Given the description of an element on the screen output the (x, y) to click on. 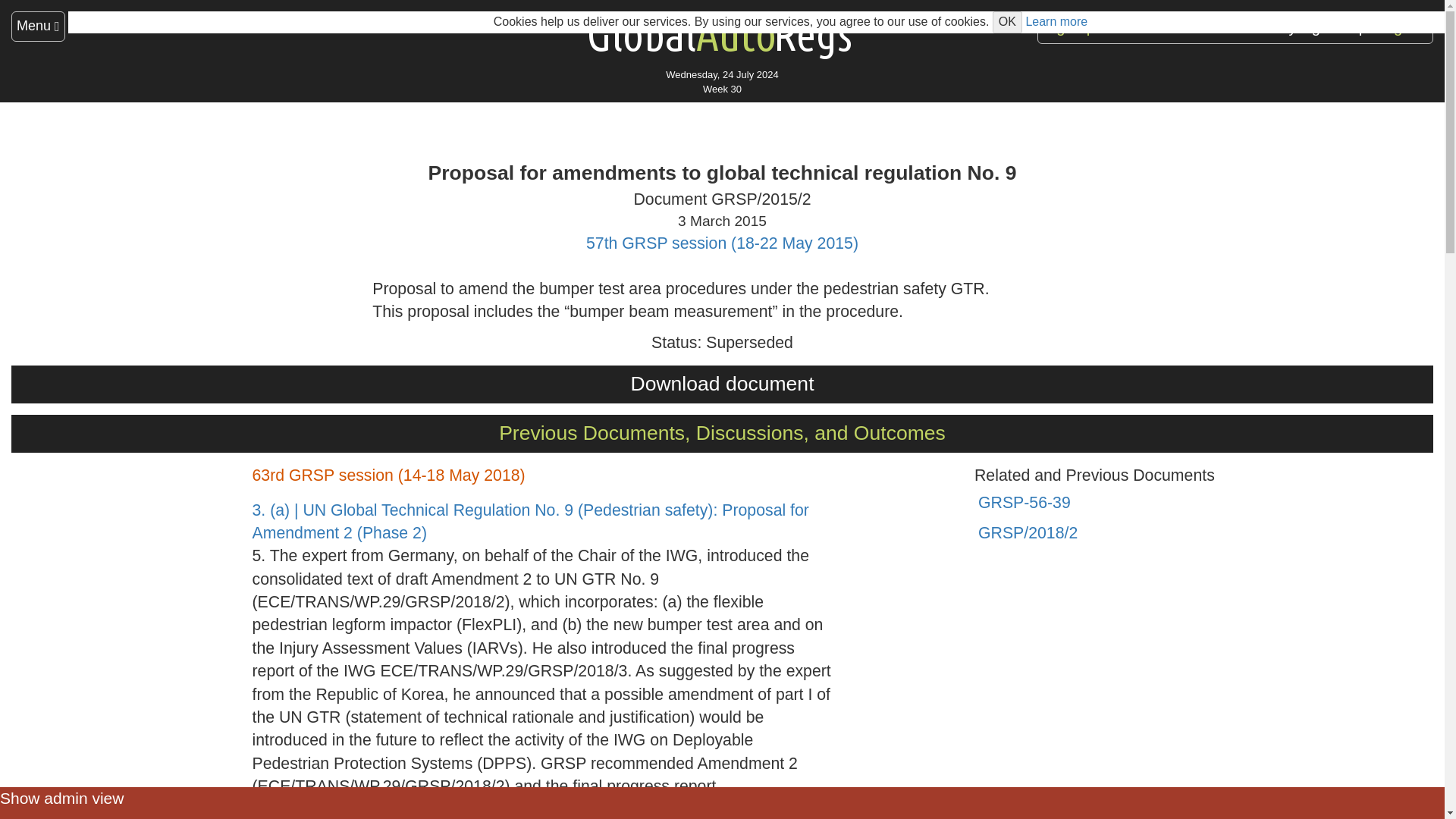
Sign up for more information. (1141, 27)
OK (1007, 22)
Sign In (1404, 27)
Learn more (1056, 21)
